Given the description of an element on the screen output the (x, y) to click on. 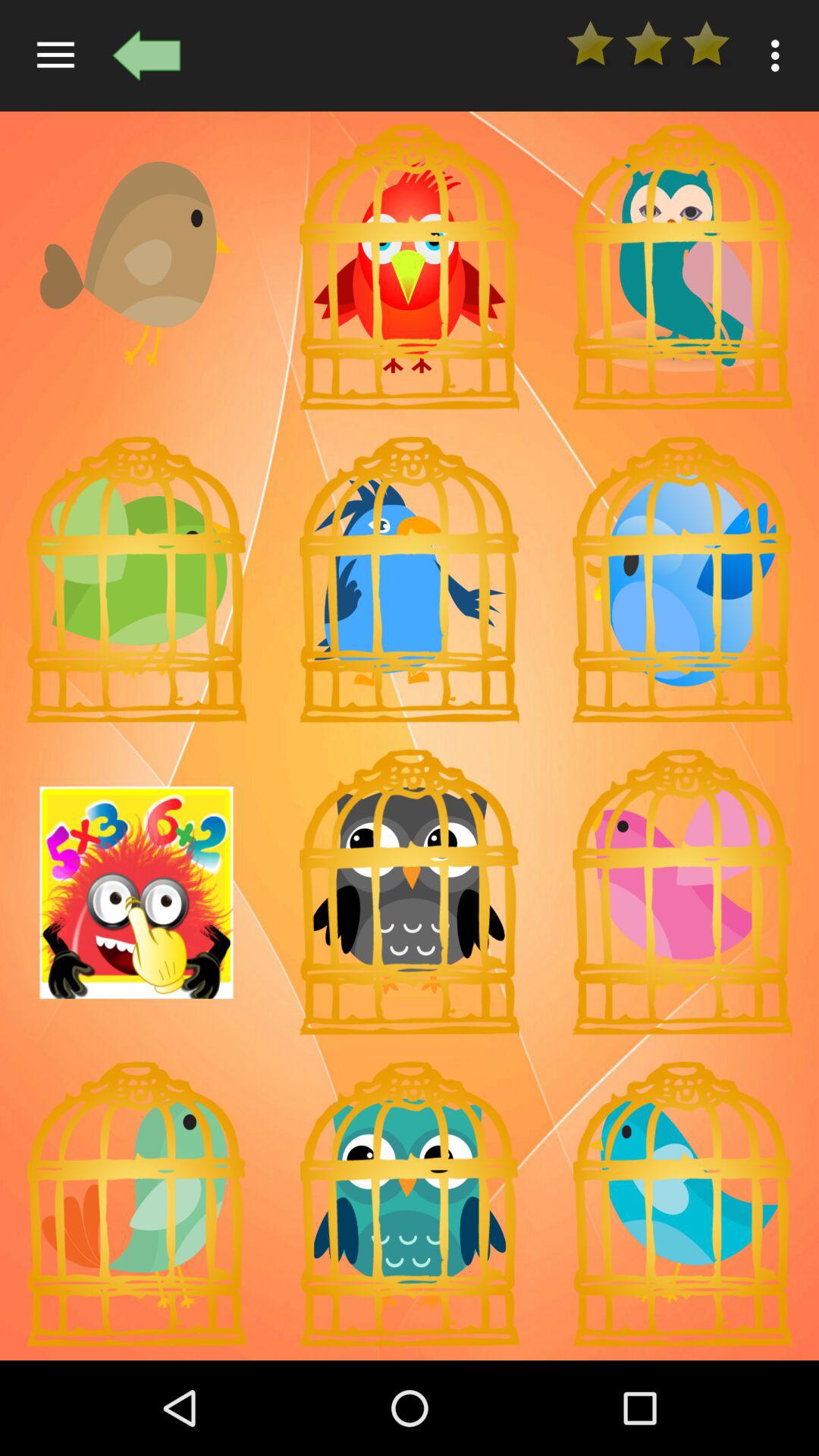
release the bird (409, 579)
